Given the description of an element on the screen output the (x, y) to click on. 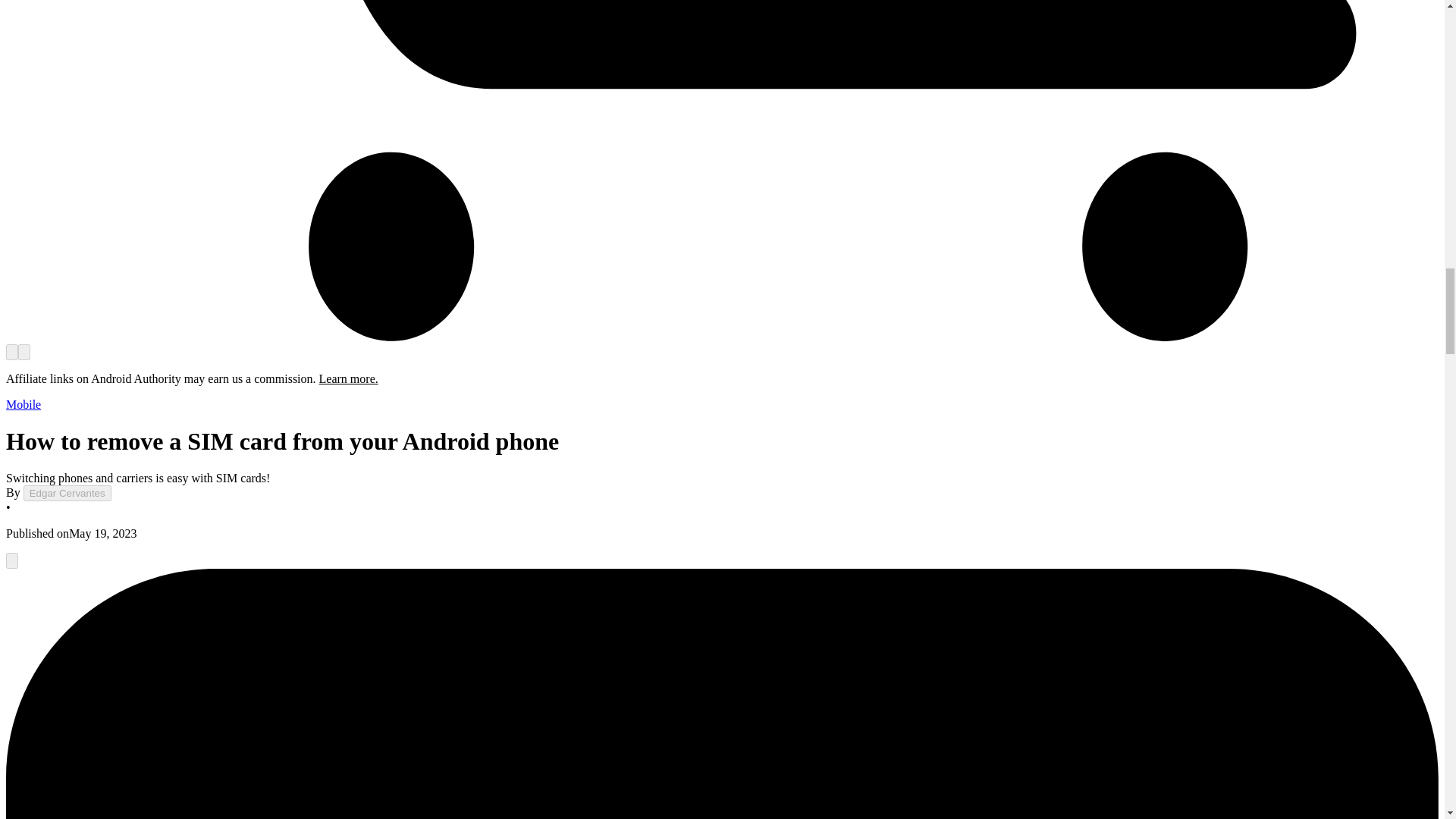
Edgar Cervantes (67, 493)
Mobile (22, 404)
Learn more. (348, 378)
